Given the description of an element on the screen output the (x, y) to click on. 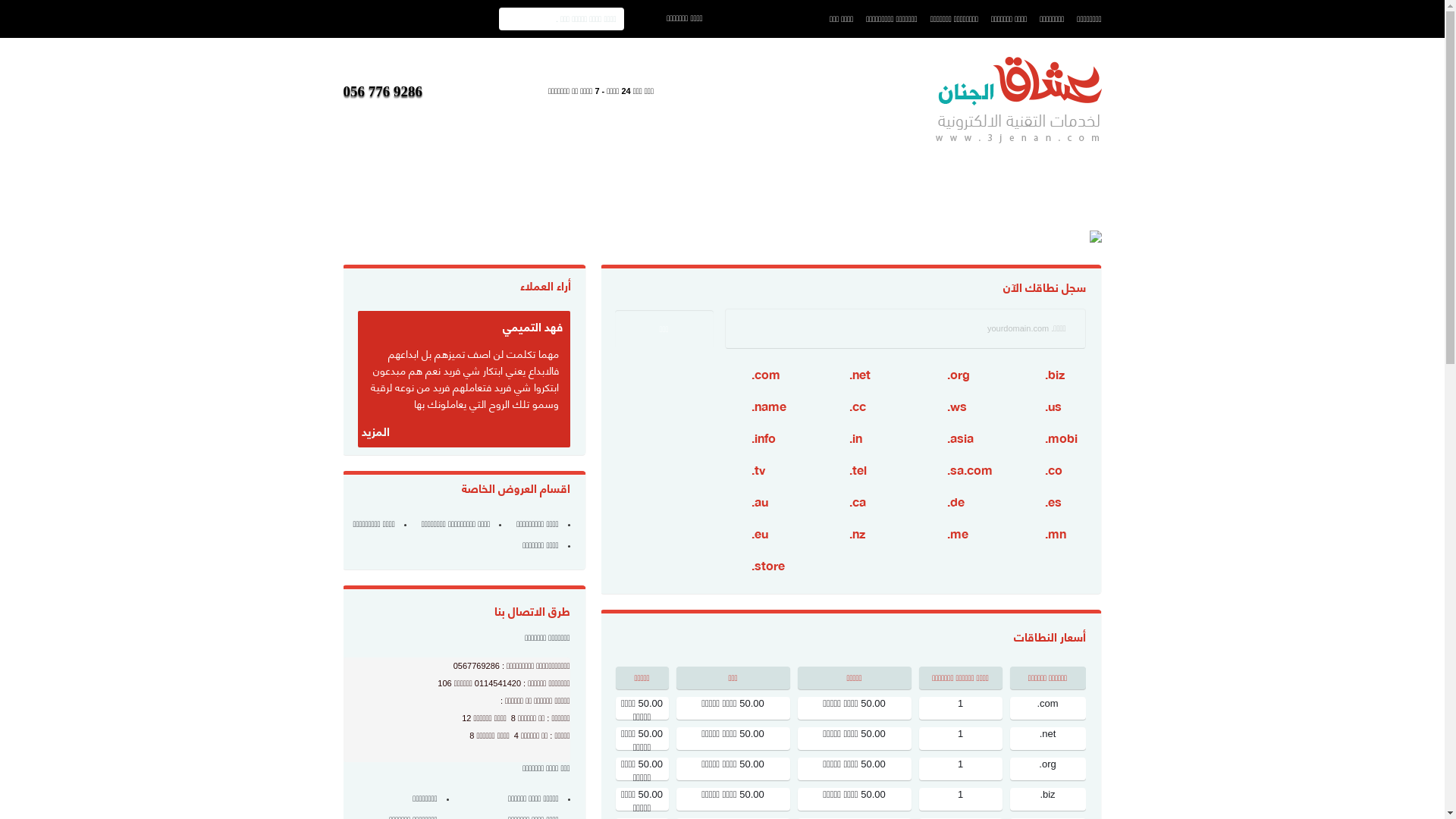
Facebook Element type: text (297, 176)
Whatsapp Element type: text (297, 328)
RSS Element type: text (297, 290)
Twitter Element type: text (297, 214)
Youtube Element type: text (297, 252)
